Given the description of an element on the screen output the (x, y) to click on. 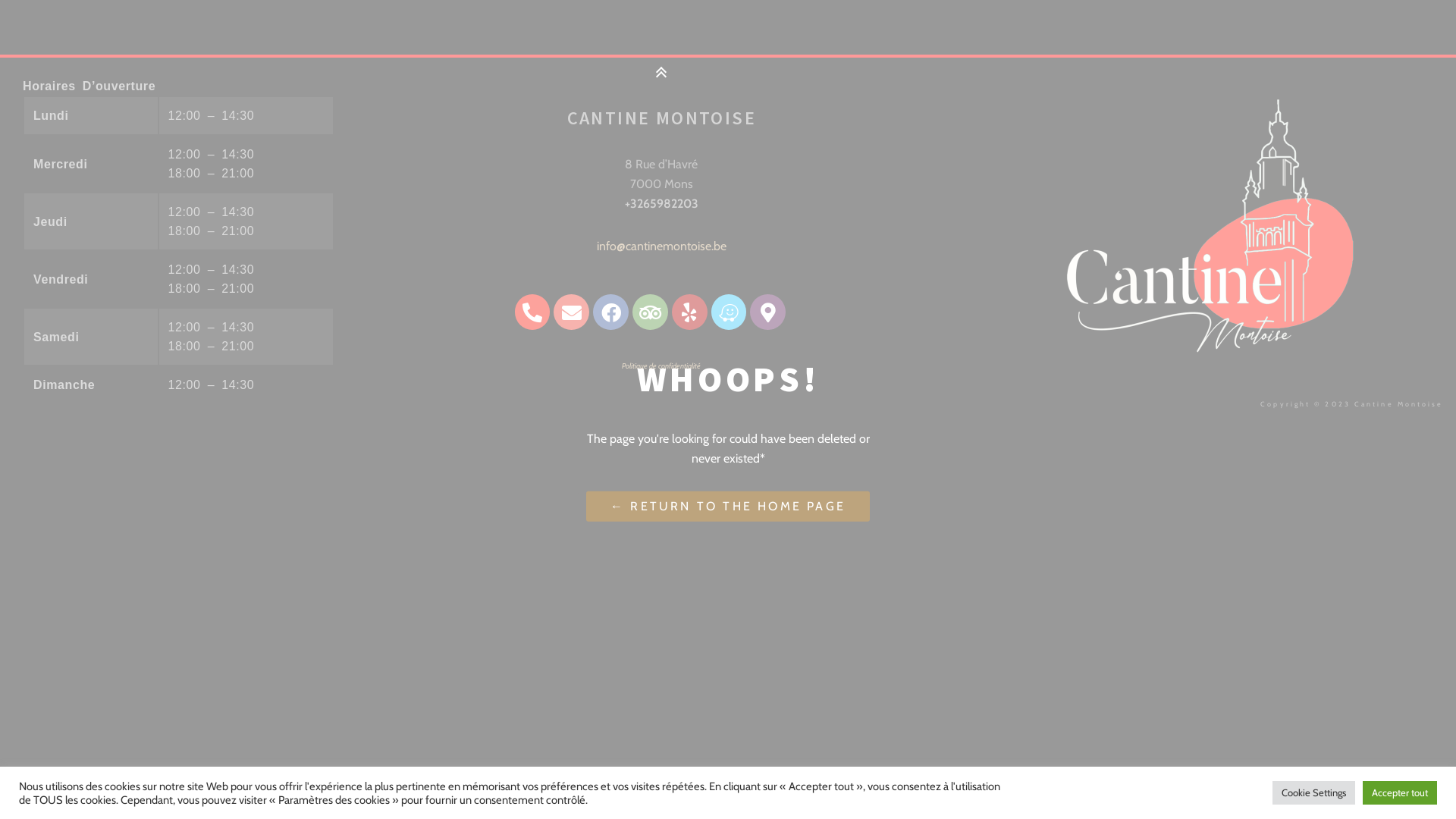
Cookie Settings Element type: text (1313, 792)
Accepter tout Element type: text (1399, 792)
info@cantinemontoise.be Element type: text (661, 245)
